Given the description of an element on the screen output the (x, y) to click on. 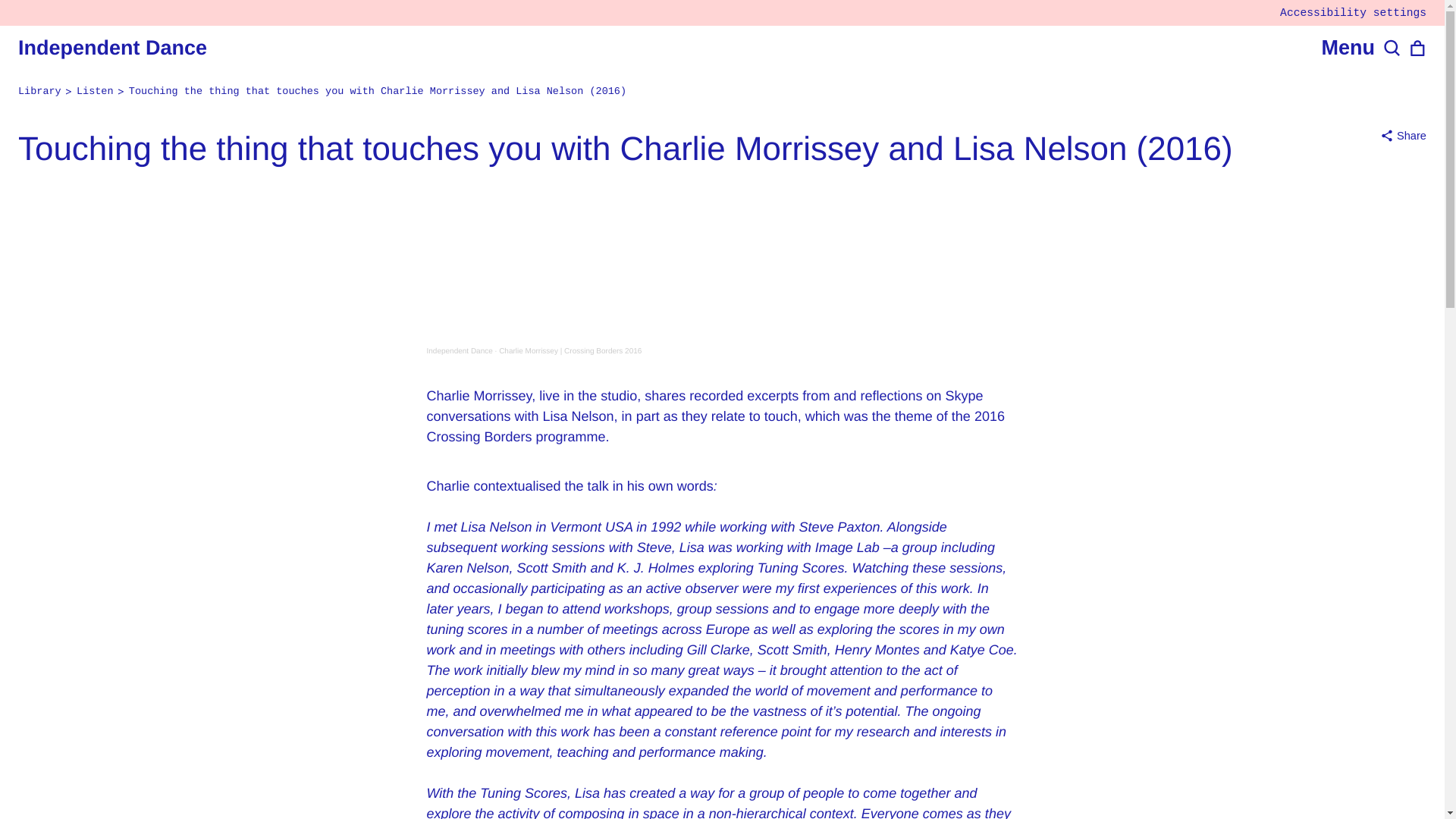
Independent Dance (459, 351)
Search (1391, 47)
Independent Dance (111, 47)
Accessibility settings (1352, 12)
Accessibility settings (1352, 12)
Basket (1417, 47)
Search (1391, 47)
Basket (1417, 47)
Menu (1347, 47)
